Given the description of an element on the screen output the (x, y) to click on. 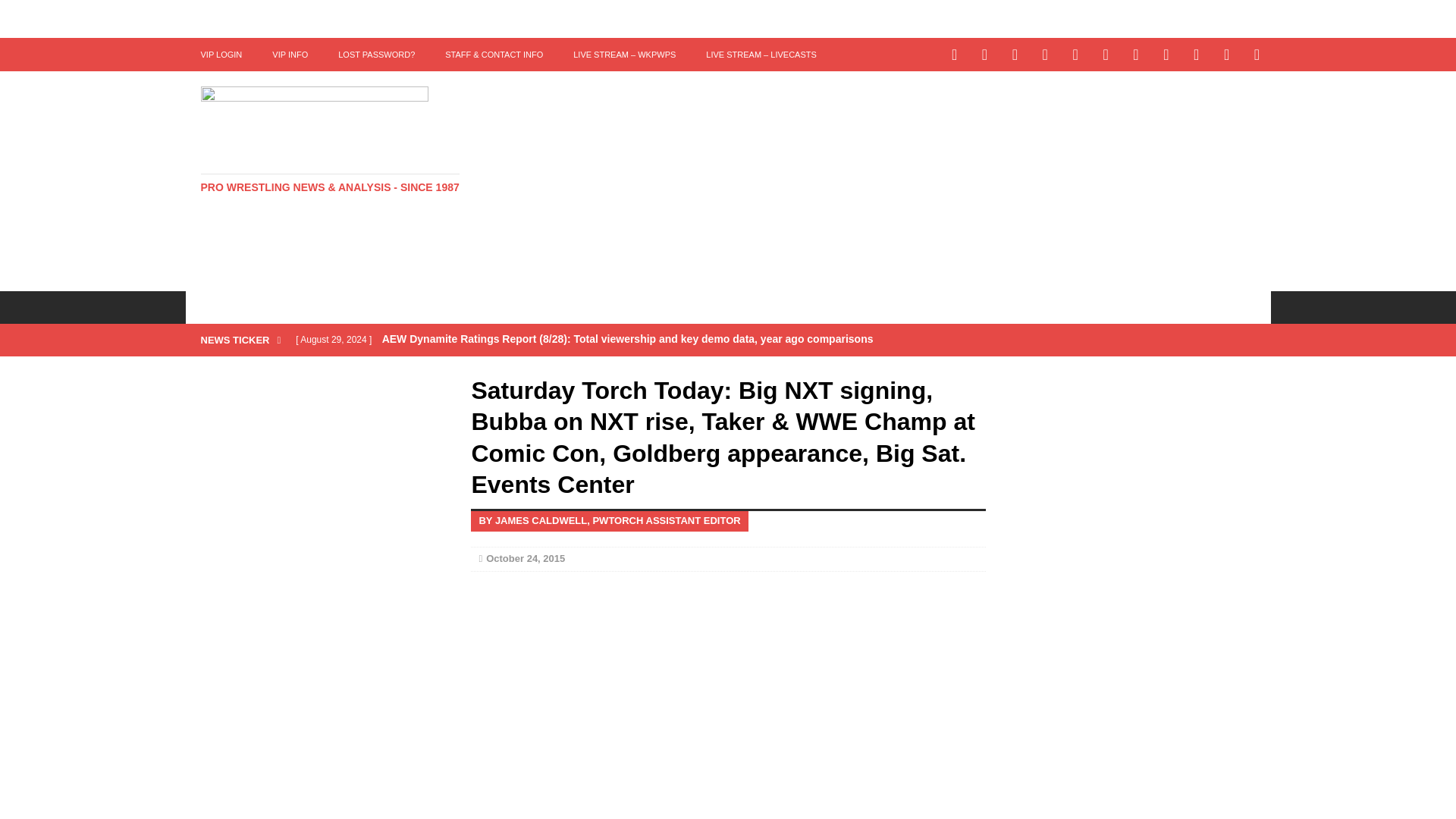
LOST PASSWORD? (376, 54)
HOME (215, 306)
VIP INFO (290, 54)
VIP LOGIN (220, 54)
NEWS (278, 306)
